Given the description of an element on the screen output the (x, y) to click on. 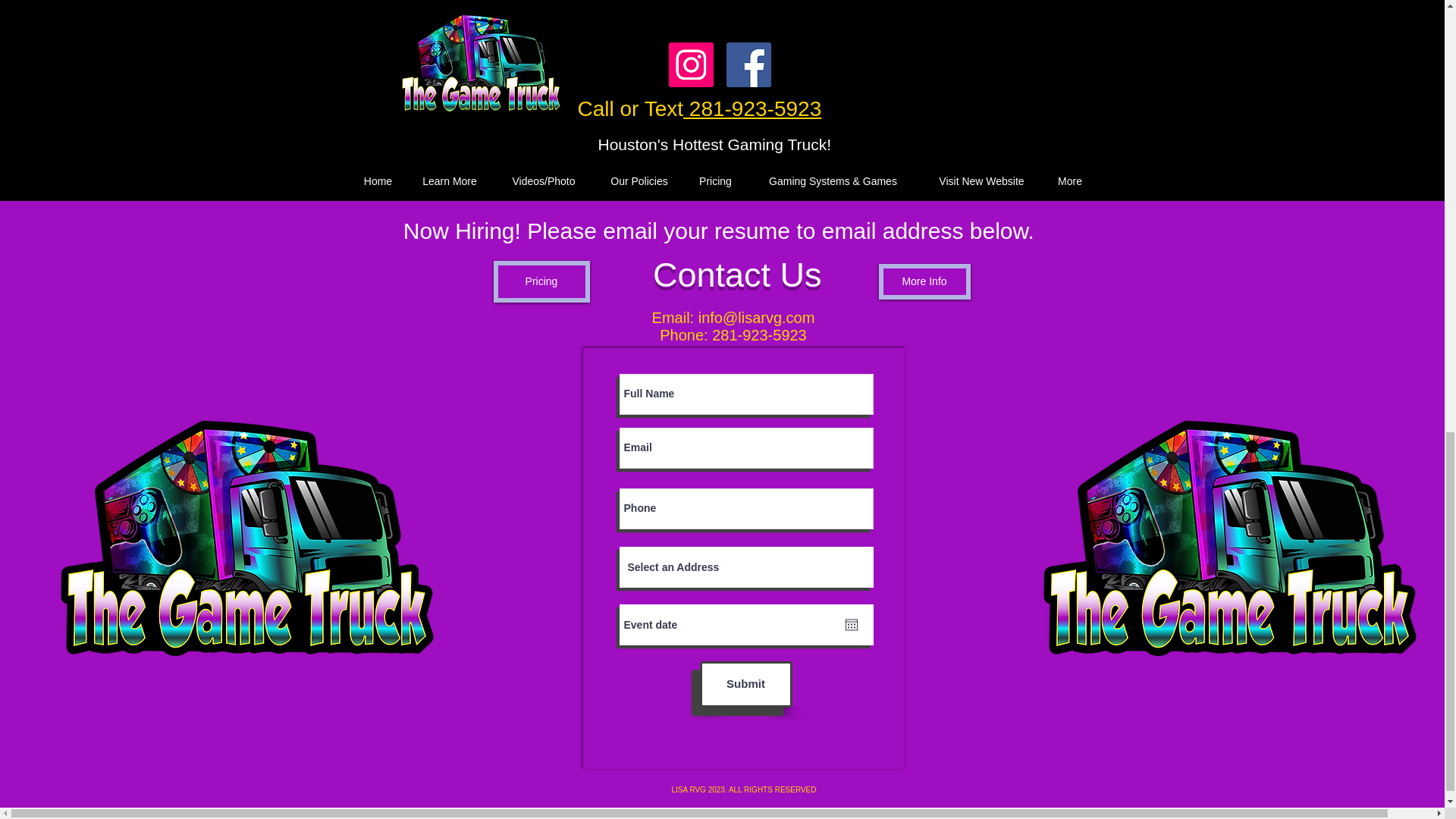
Pricing (541, 281)
Submit (745, 683)
More Info (923, 281)
